Given the description of an element on the screen output the (x, y) to click on. 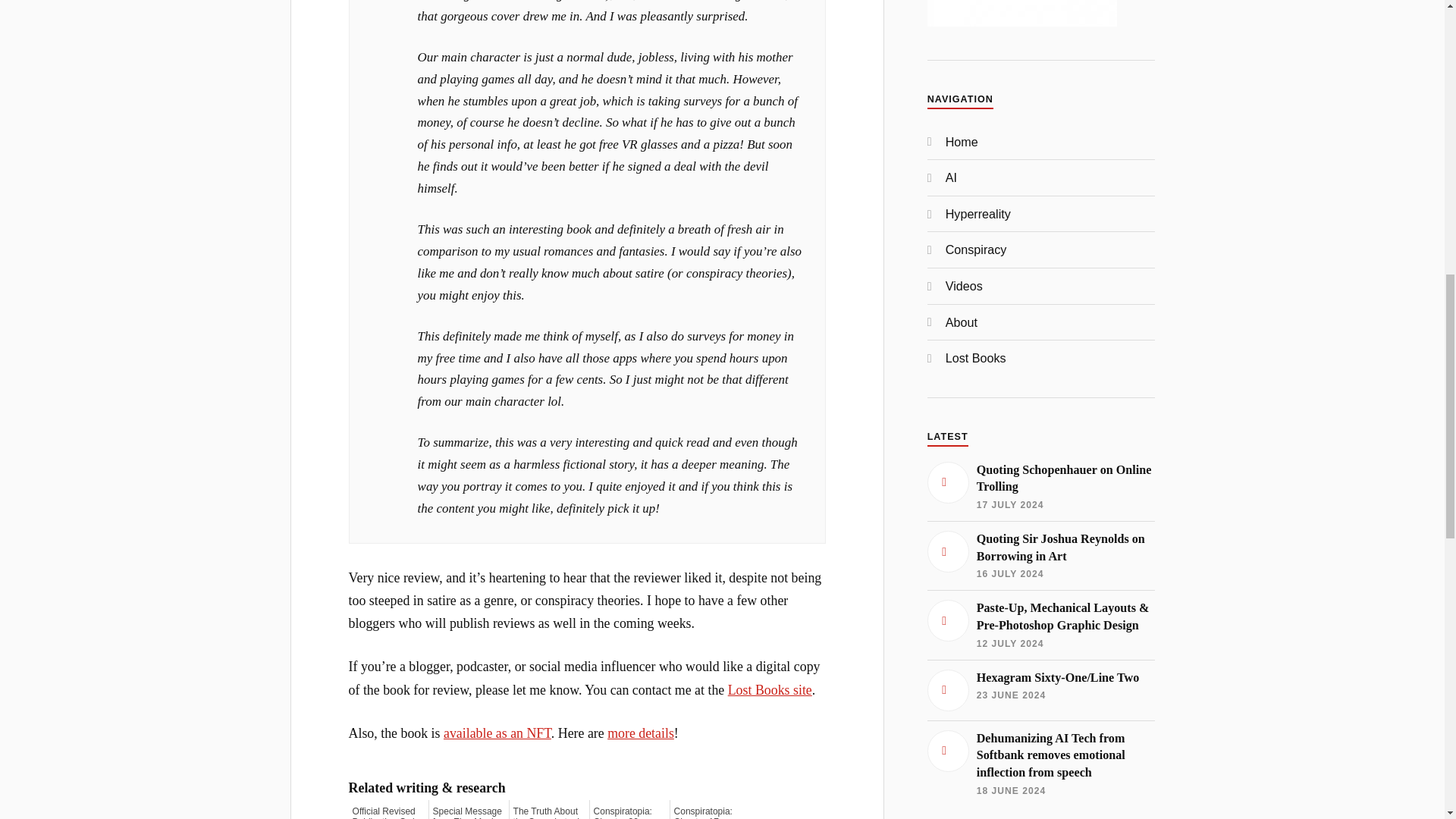
Lost Books site (770, 689)
The Truth About the Conspiratopia Project Must Be Told! (549, 812)
Conspiratopia: Chapter 20 (629, 812)
more details (640, 733)
Conspiratopia: Chapter 17 (710, 812)
available as an NFT (497, 733)
